Given the description of an element on the screen output the (x, y) to click on. 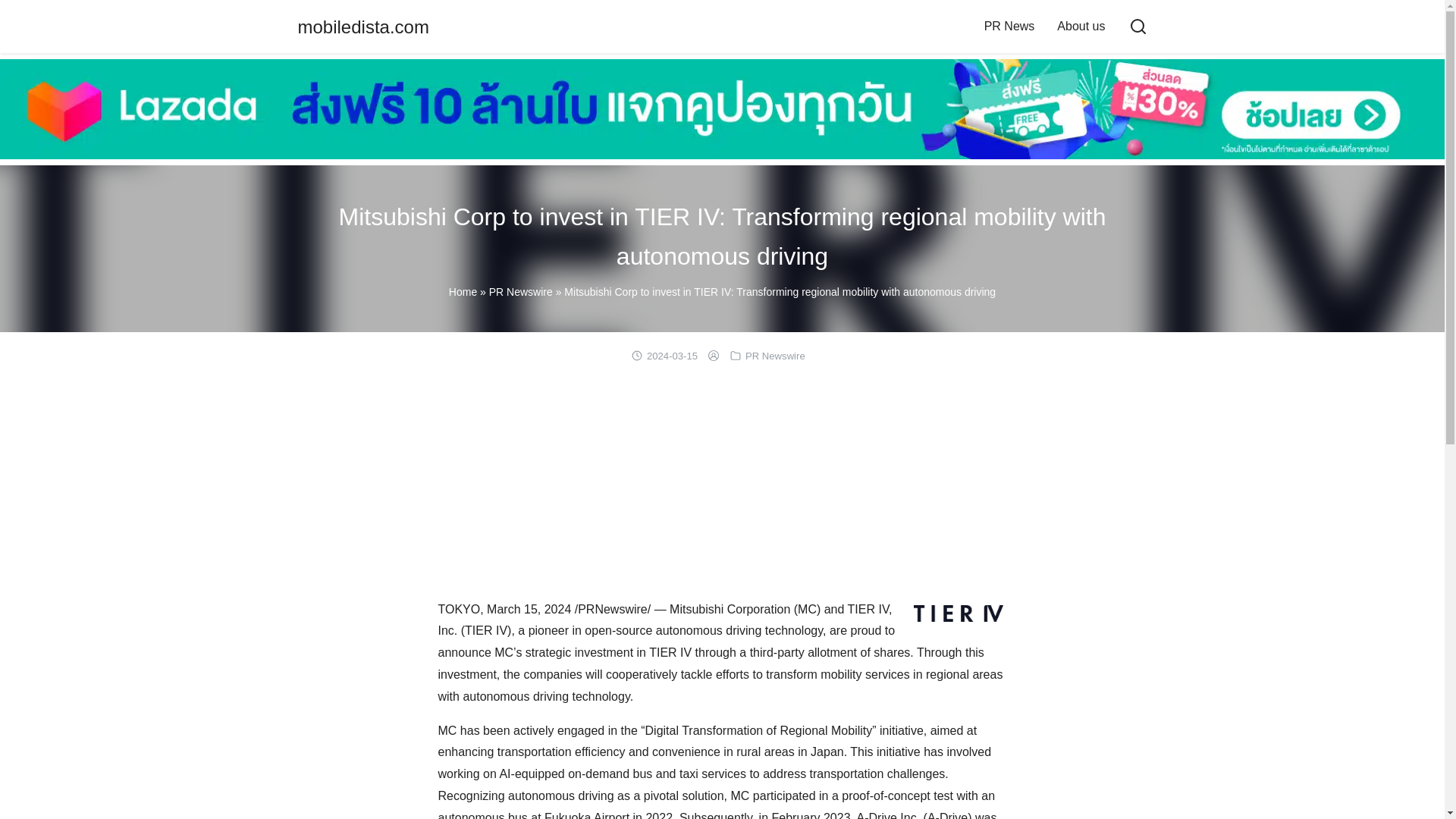
mobiledista.com (362, 26)
PR News (1009, 26)
Advertisement (722, 486)
2024-03-15 (671, 355)
logo (957, 613)
About us (1080, 26)
PR Newswire (521, 291)
PR Newswire (775, 355)
Home (462, 291)
